Given the description of an element on the screen output the (x, y) to click on. 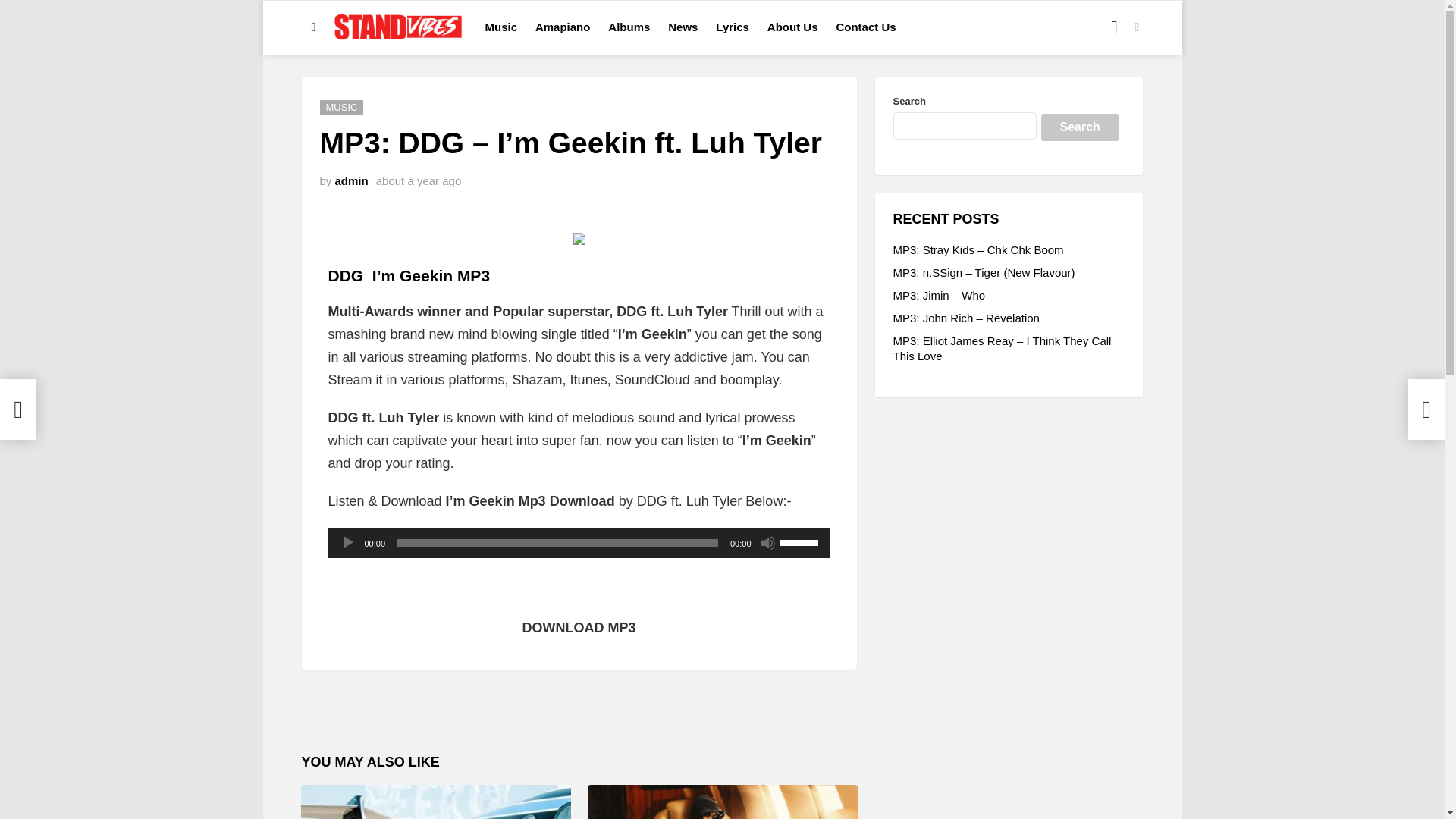
Search (1079, 126)
Lyrics (732, 26)
Menu (313, 27)
News (682, 26)
MUSIC (342, 107)
About Us (792, 26)
admin (351, 180)
Posts by admin (351, 180)
Play (347, 542)
Albums (628, 26)
Music (501, 26)
Amapiano (562, 26)
Mute (767, 542)
Contact Us (865, 26)
Ad.Plus Advertising (722, 812)
